Given the description of an element on the screen output the (x, y) to click on. 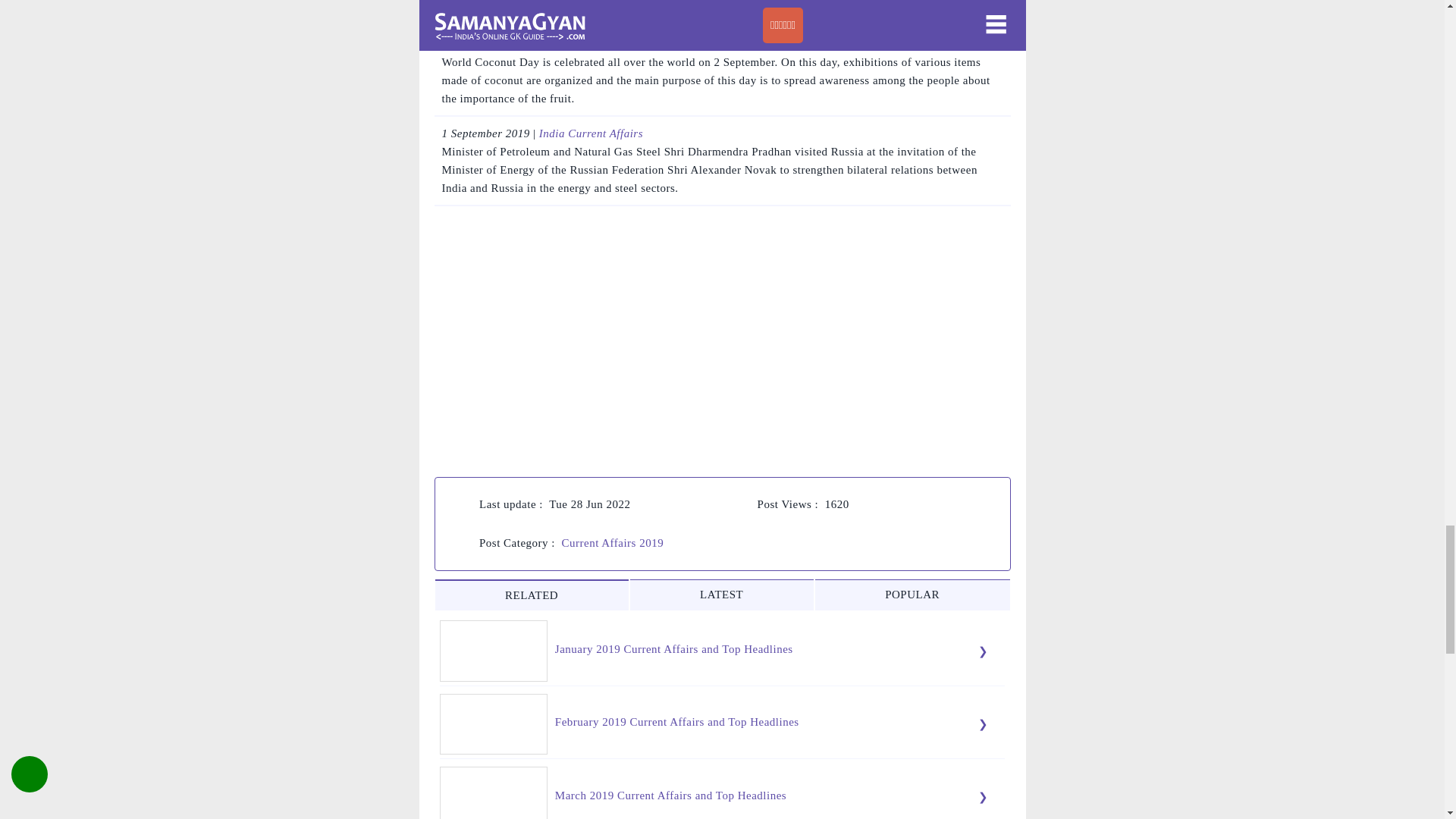
India Current Affairs (590, 133)
Latest General Knowledge (721, 594)
Current Affairs 2019 Current Affairs 2019 (611, 542)
Special Day Current Affairs (607, 43)
Related to Current Affairs 2019 (531, 594)
Top General Knowledge (912, 594)
